Given the description of an element on the screen output the (x, y) to click on. 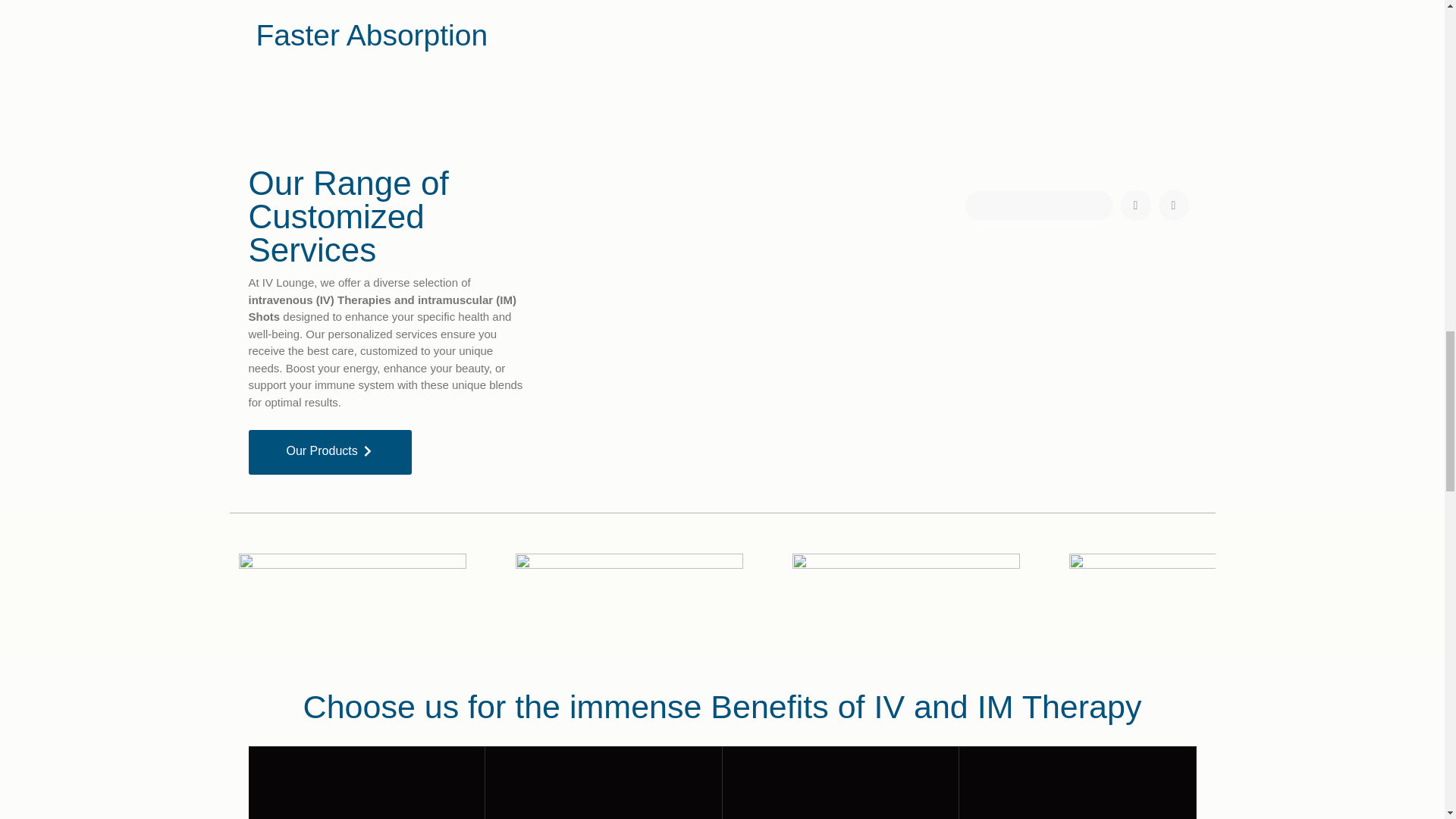
2 (352, 599)
1 (906, 599)
3 (629, 599)
4 (1182, 599)
